Given the description of an element on the screen output the (x, y) to click on. 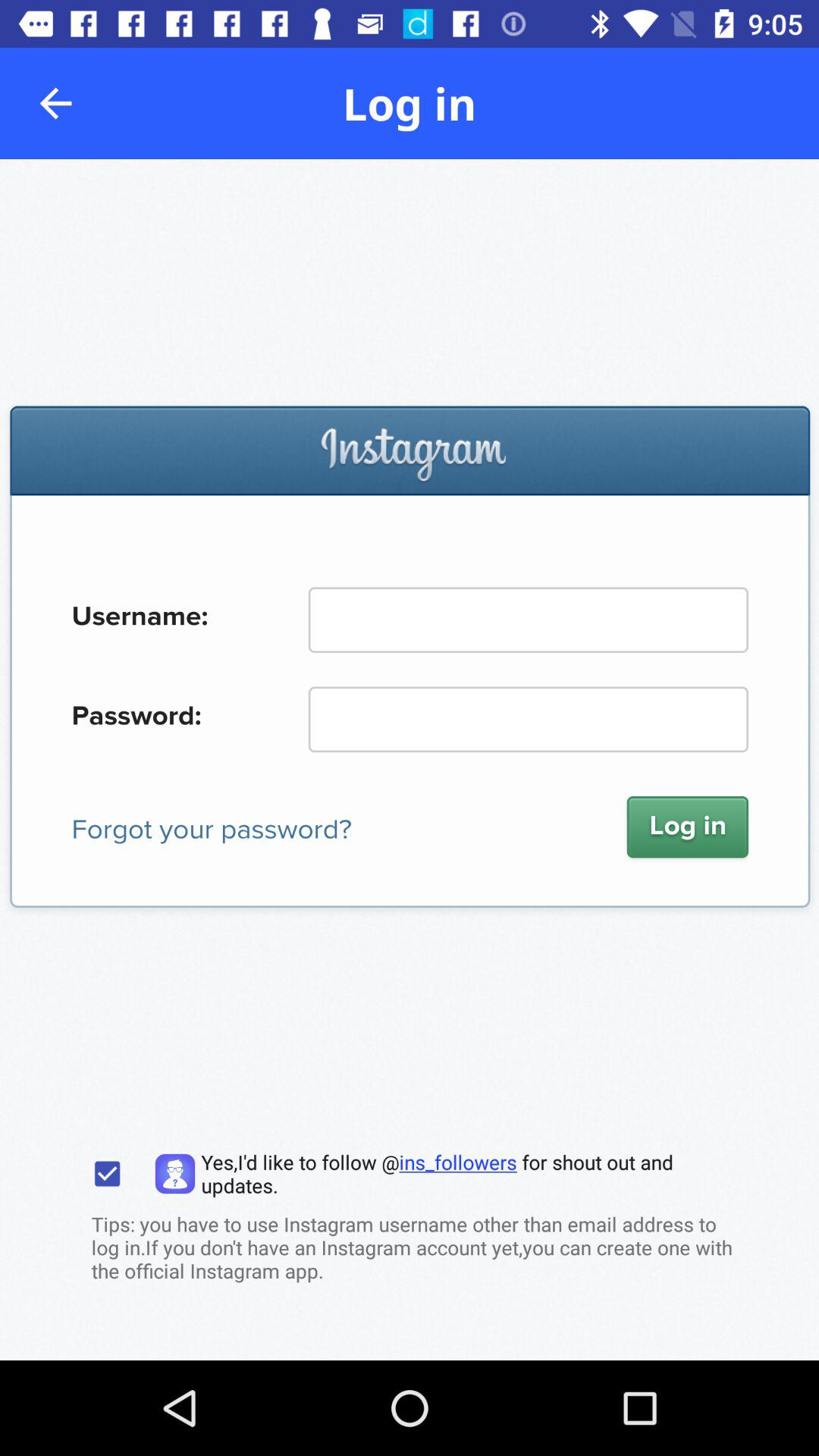
selection box (107, 1173)
